Given the description of an element on the screen output the (x, y) to click on. 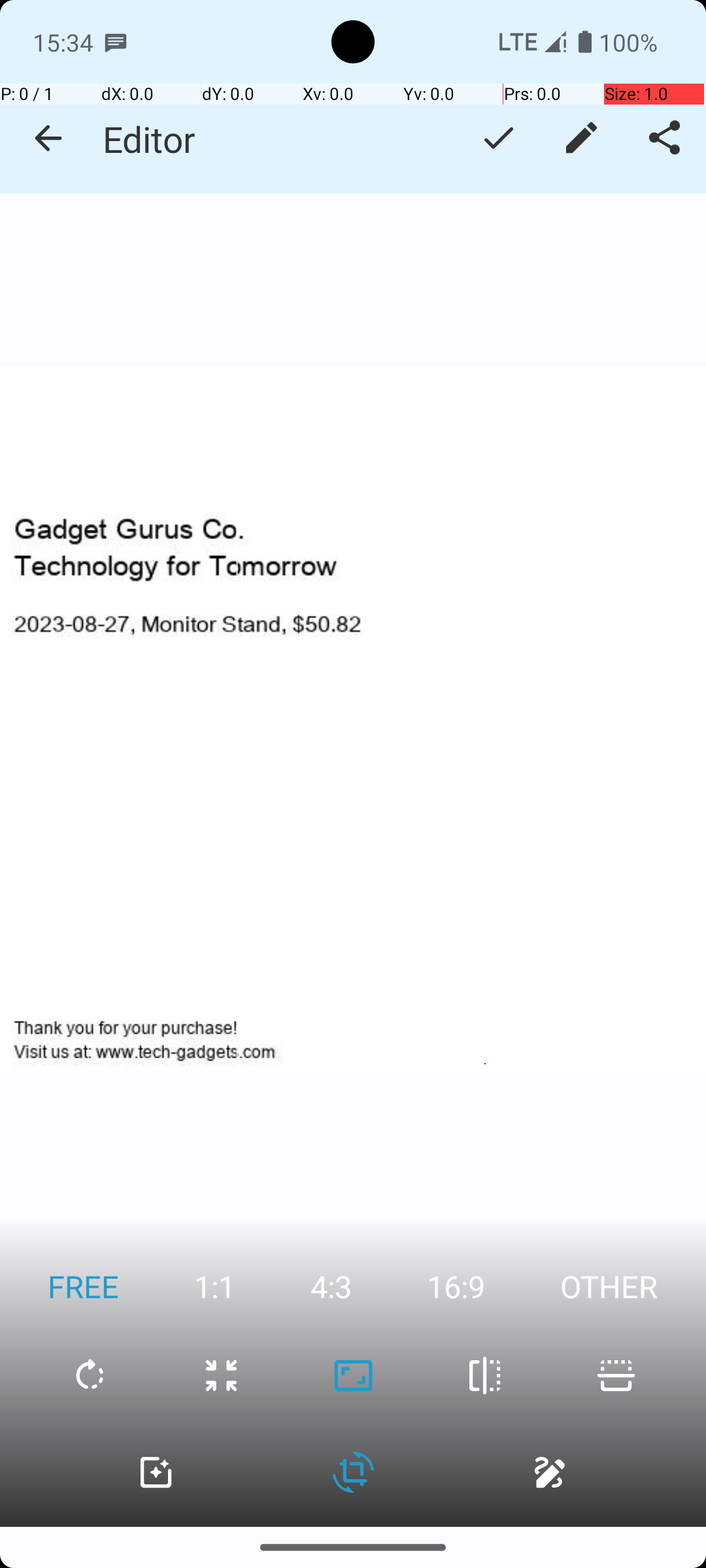
Editor Element type: android.widget.TextView (148, 138)
Save as Element type: android.widget.Button (497, 137)
Edit with Element type: android.widget.Button (580, 137)
FREE Element type: android.widget.TextView (83, 1286)
1:1 Element type: android.widget.TextView (214, 1286)
4:3 Element type: android.widget.TextView (331, 1286)
16:9 Element type: android.widget.TextView (455, 1286)
OTHER Element type: android.widget.TextView (608, 1286)
Resize Element type: android.widget.ImageView (220, 1375)
Crop Element type: android.widget.ImageView (352, 1375)
Flip horizontally Element type: android.widget.ImageView (484, 1375)
Flip vertically Element type: android.widget.ImageView (615, 1375)
Transform Element type: android.widget.ImageView (352, 1471)
Draw Element type: android.widget.ImageView (549, 1471)
